Given the description of an element on the screen output the (x, y) to click on. 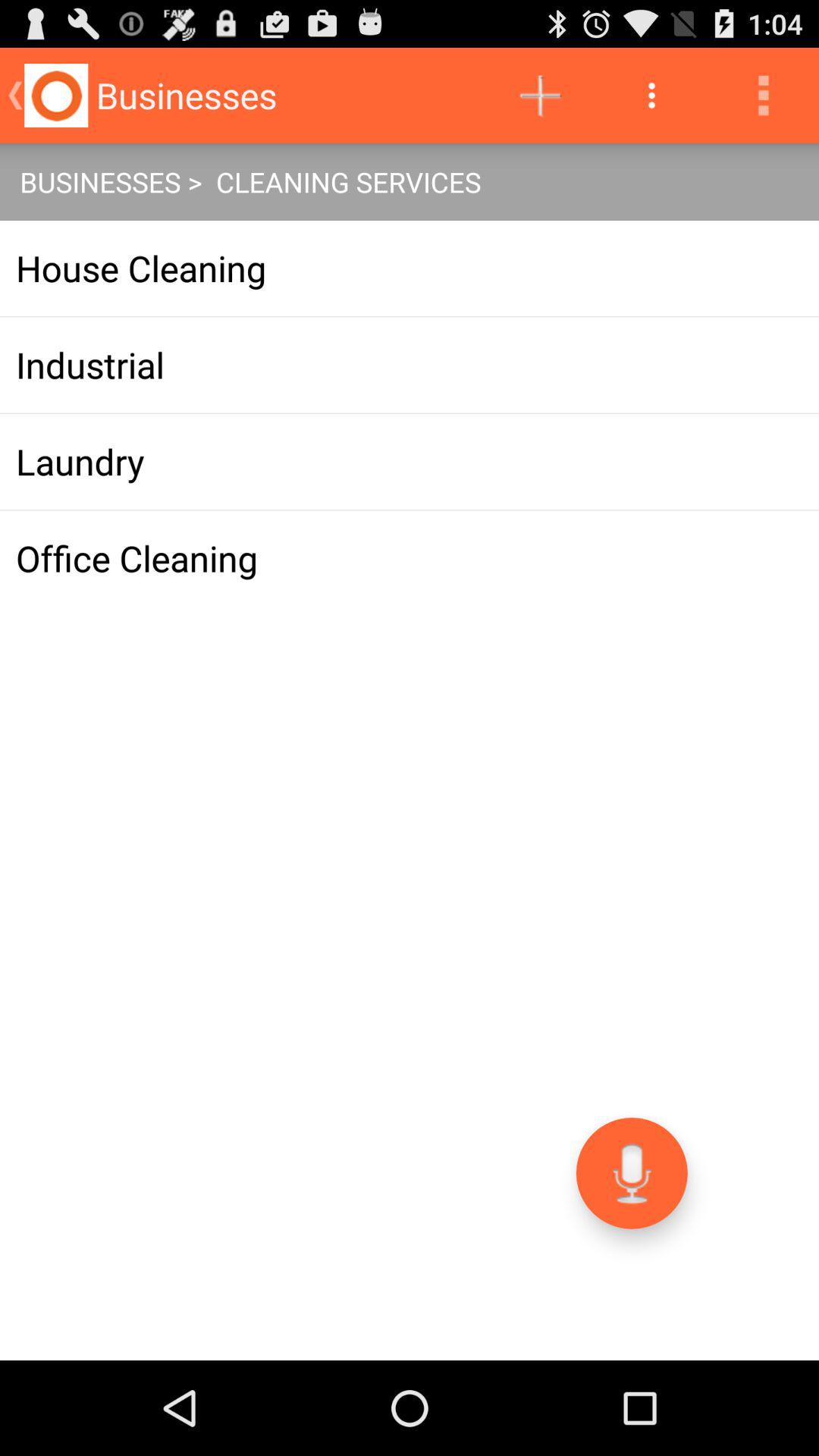
open the icon below office cleaning (631, 1173)
